Given the description of an element on the screen output the (x, y) to click on. 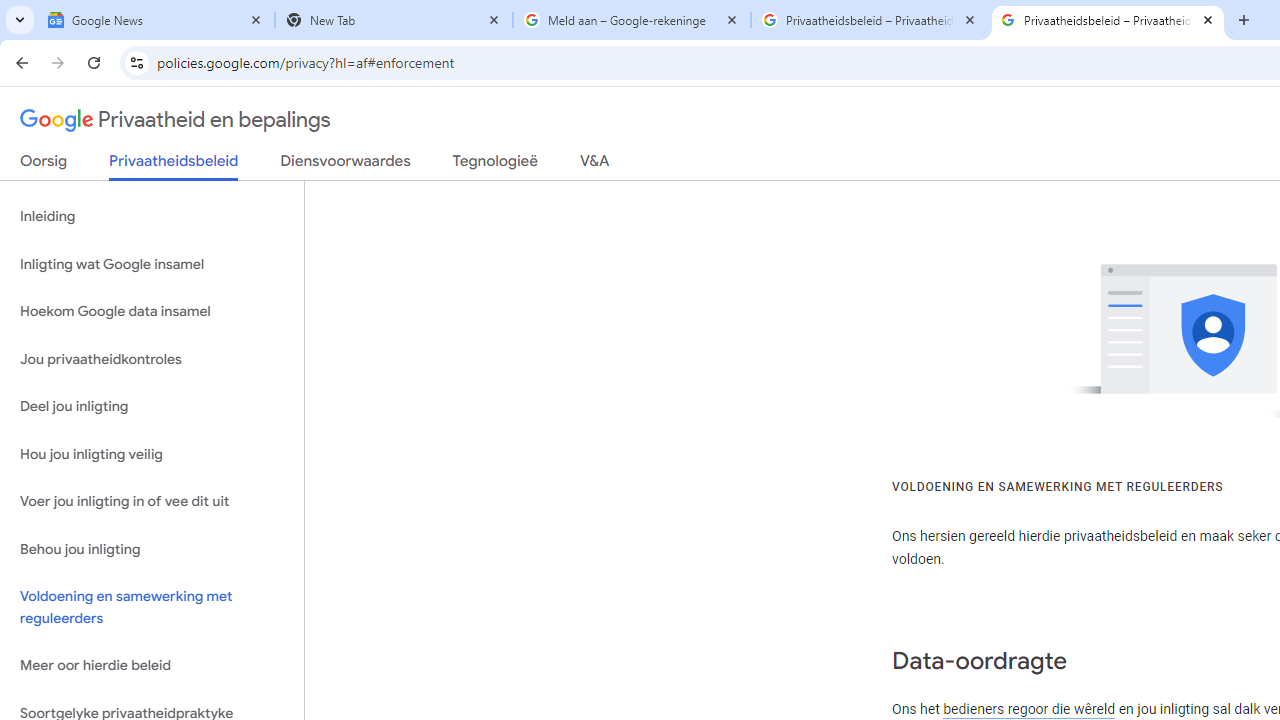
Deel jou inligting (152, 407)
Hoekom Google data insamel (152, 312)
Diensvoorwaardes (345, 165)
Voldoening en samewerking met reguleerders (152, 607)
Inligting wat Google insamel (152, 263)
Hou jou inligting veilig (152, 453)
Oorsig (43, 165)
New Tab (394, 20)
